Given the description of an element on the screen output the (x, y) to click on. 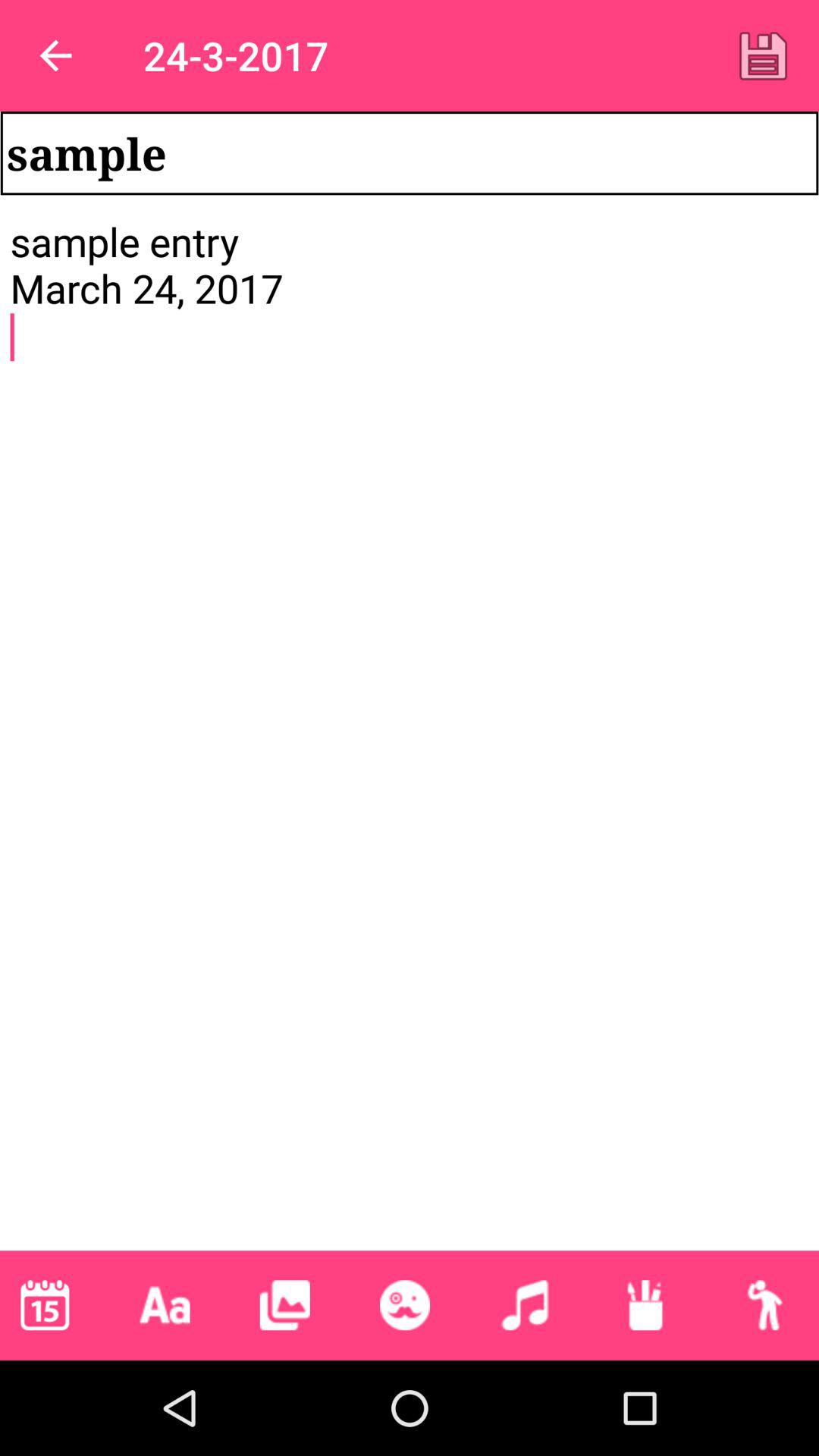
insert an audio file (524, 1305)
